Given the description of an element on the screen output the (x, y) to click on. 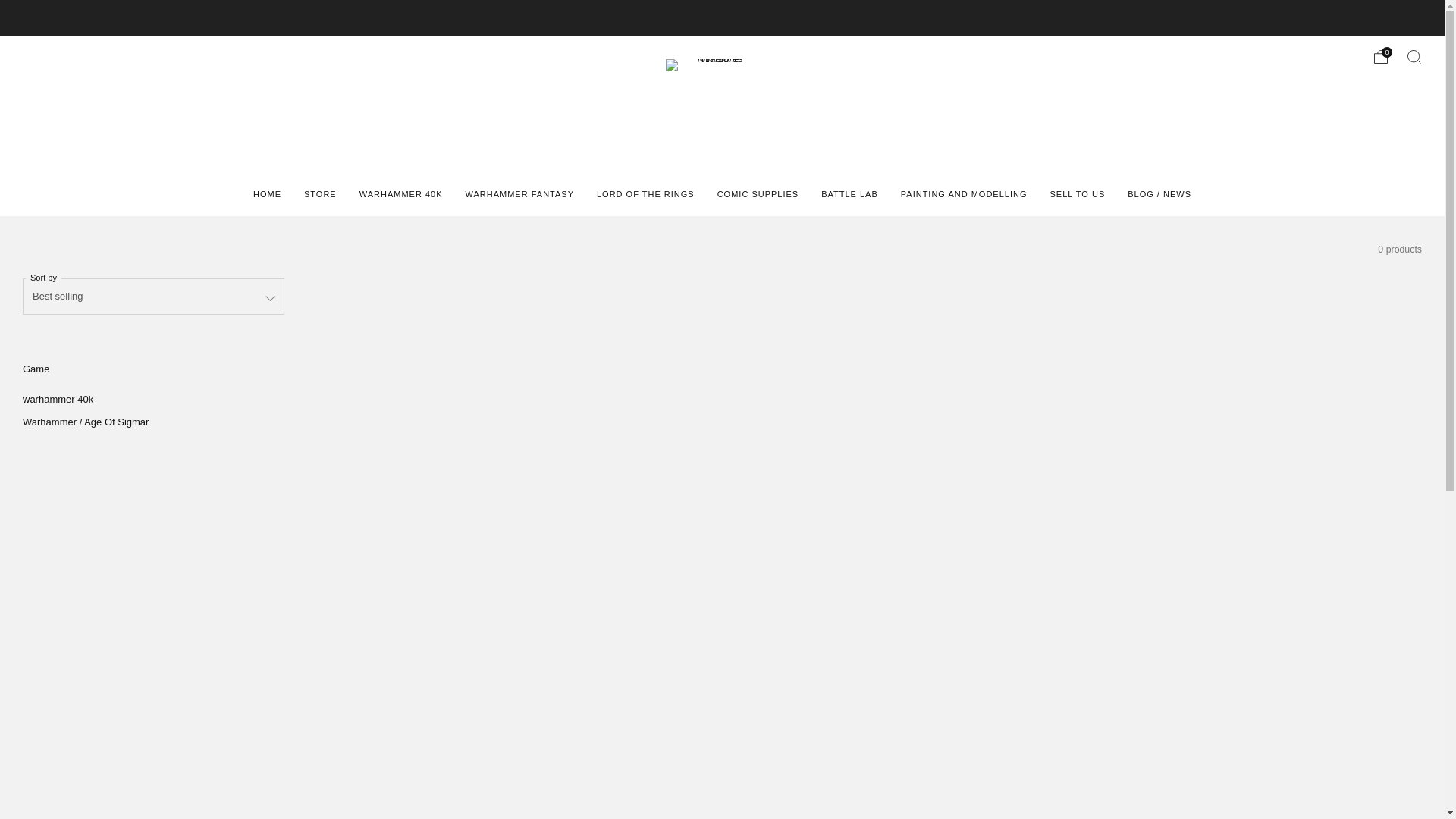
WARHAMMER 40K (400, 193)
HOME (267, 193)
STORE (320, 193)
WARHAMMER FANTASY (518, 193)
